Given the description of an element on the screen output the (x, y) to click on. 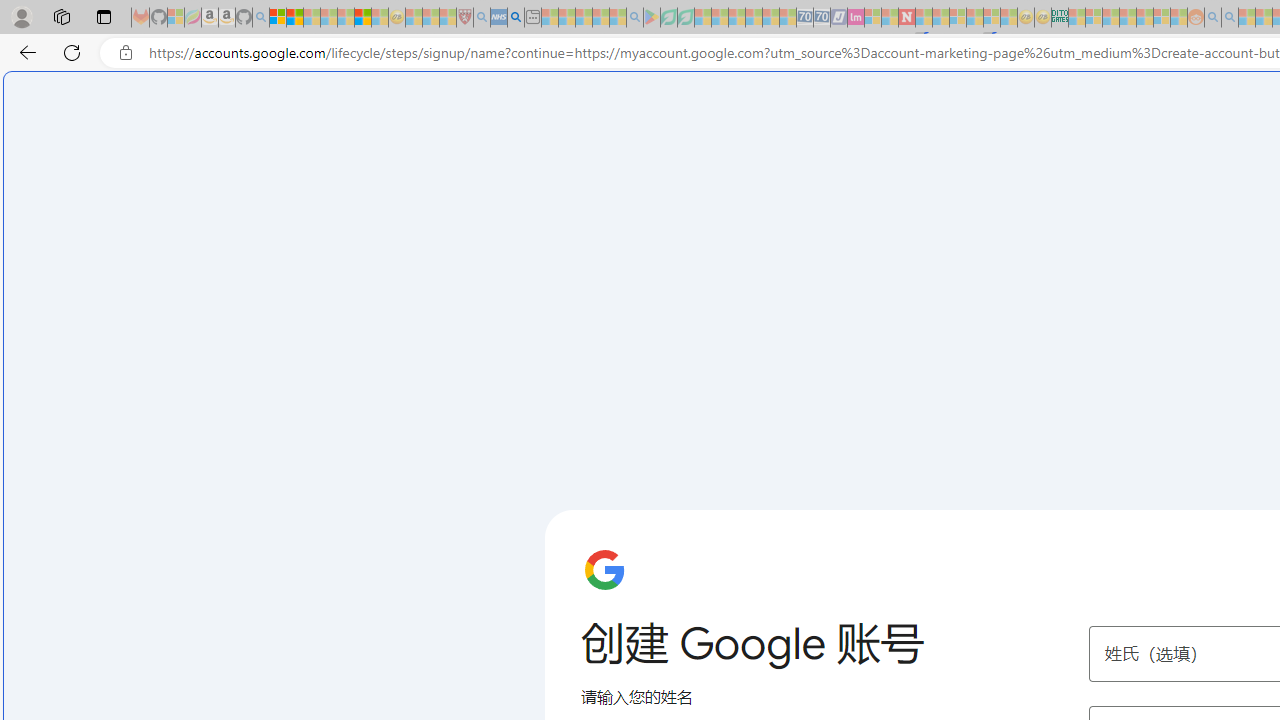
utah sues federal government - Search (515, 17)
